Given the description of an element on the screen output the (x, y) to click on. 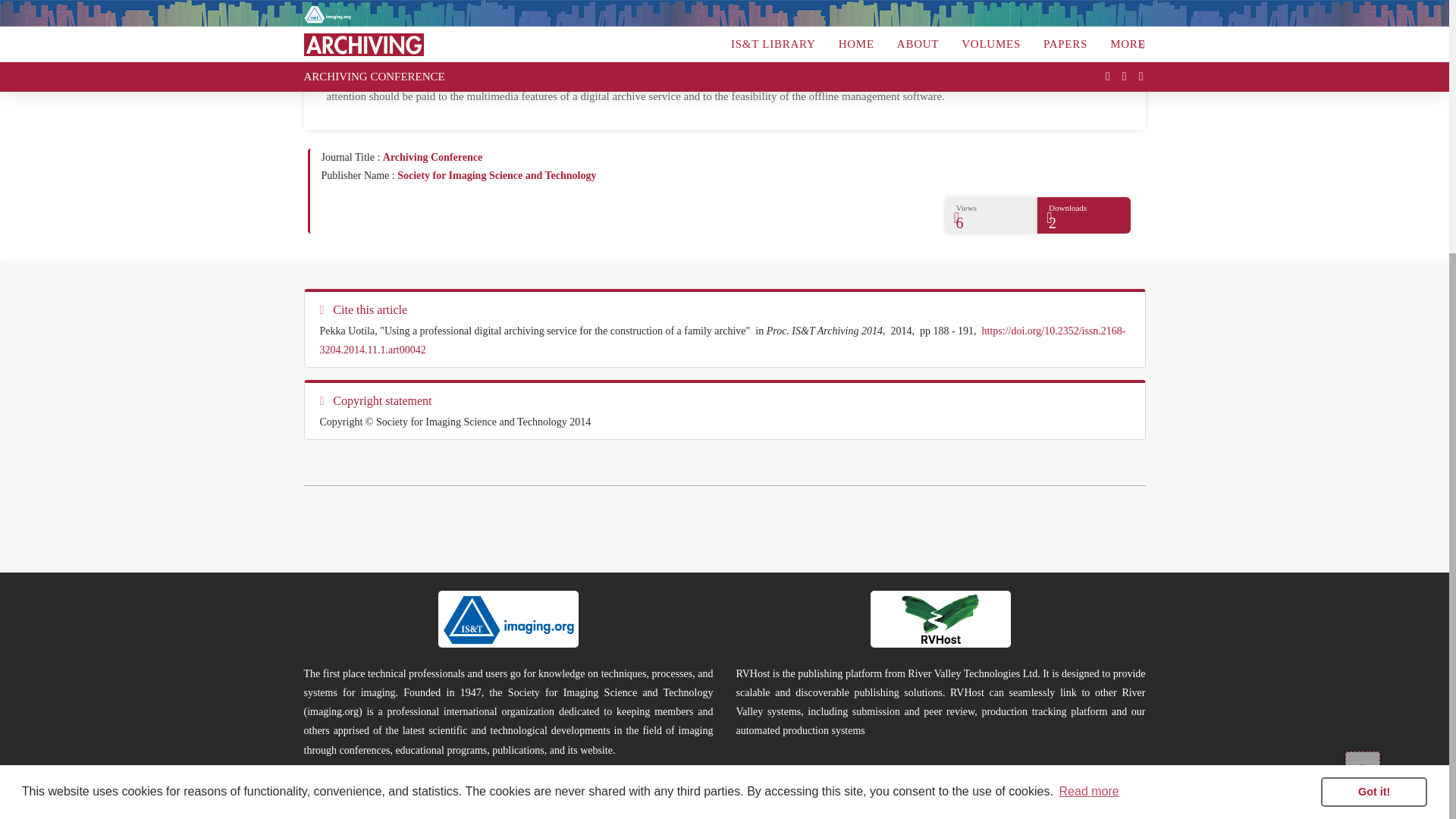
Got it! (1373, 424)
Read more (1089, 424)
